Given the description of an element on the screen output the (x, y) to click on. 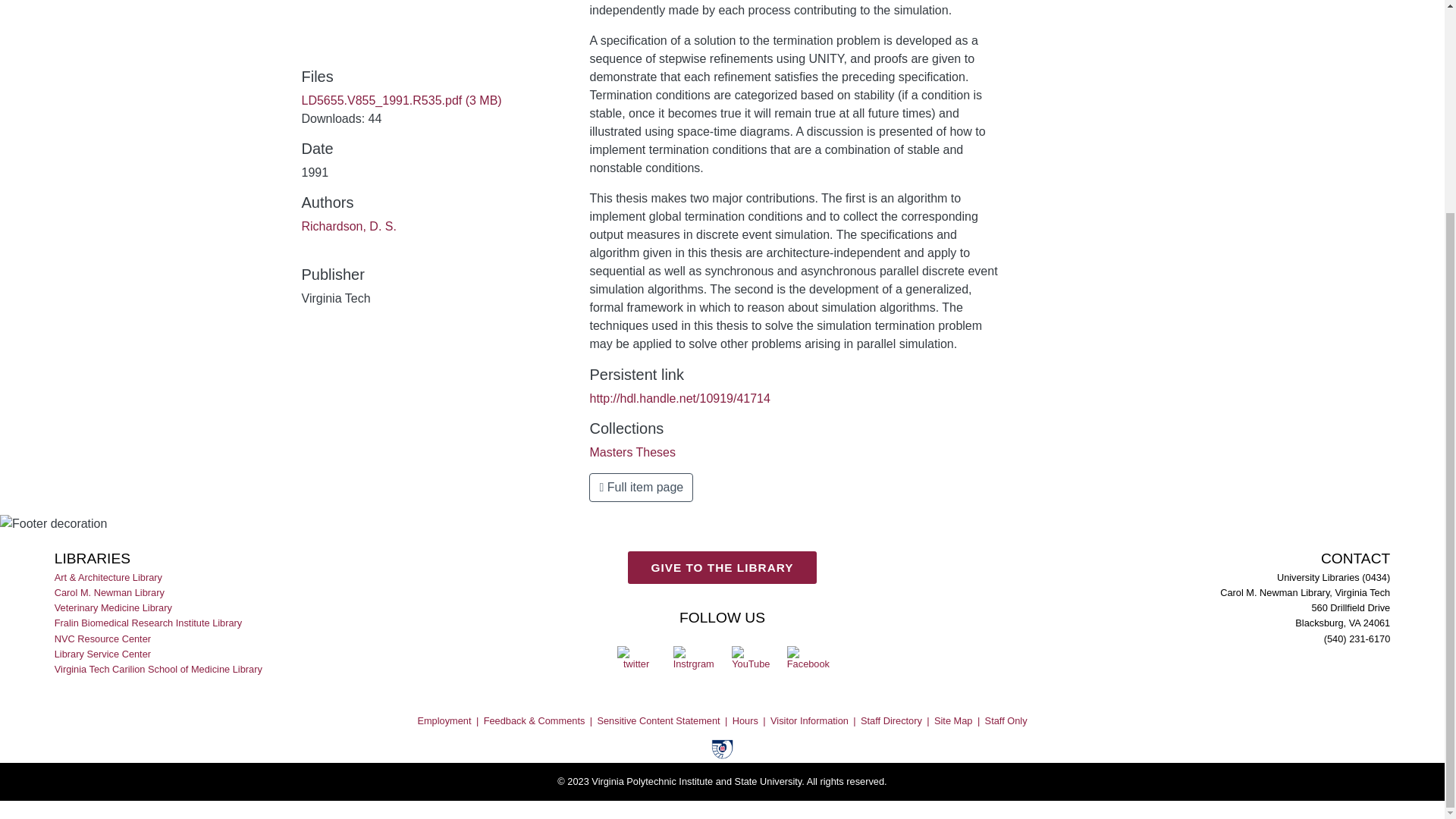
GIVE TO THE LIBRARY (722, 579)
Richardson, D. S. (348, 226)
Fralin Biomedical Research Institute Library (149, 622)
Veterinary Medicine Library (114, 607)
Full item page (641, 487)
NVC Resource Center (103, 638)
Virginia Tech Carilion School of Medicine Library (159, 668)
Carol M. Newman Library (111, 592)
Library Service Center (103, 653)
Masters Theses (632, 451)
